Given the description of an element on the screen output the (x, y) to click on. 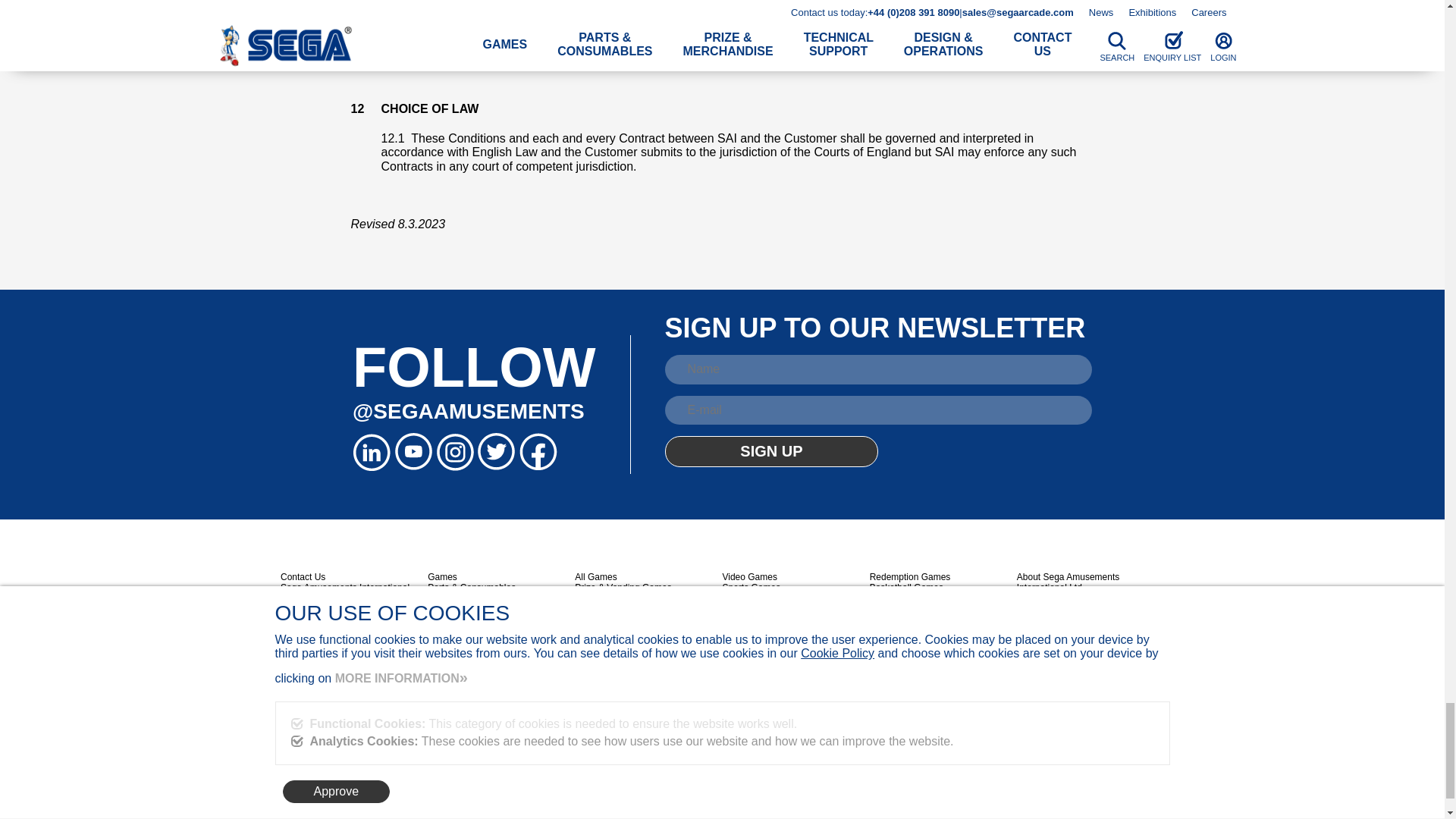
Games (442, 576)
Contact Us (449, 629)
SIGN UP (772, 450)
Technical Support (463, 608)
Prize and Merchandise (474, 597)
